Given the description of an element on the screen output the (x, y) to click on. 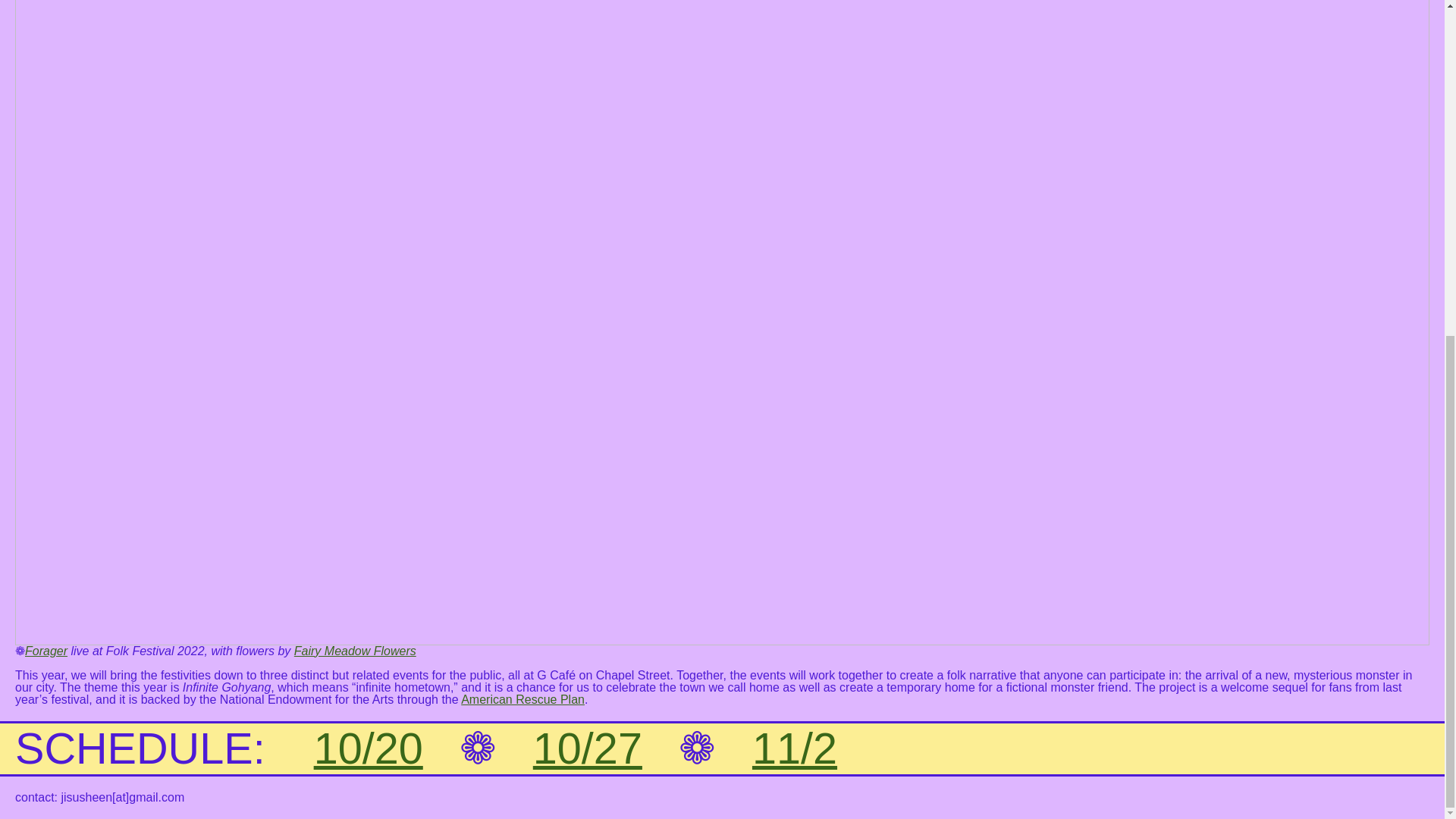
American Rescue Plan (523, 698)
Forager (45, 650)
Fairy Meadow Flowers (355, 650)
